Given the description of an element on the screen output the (x, y) to click on. 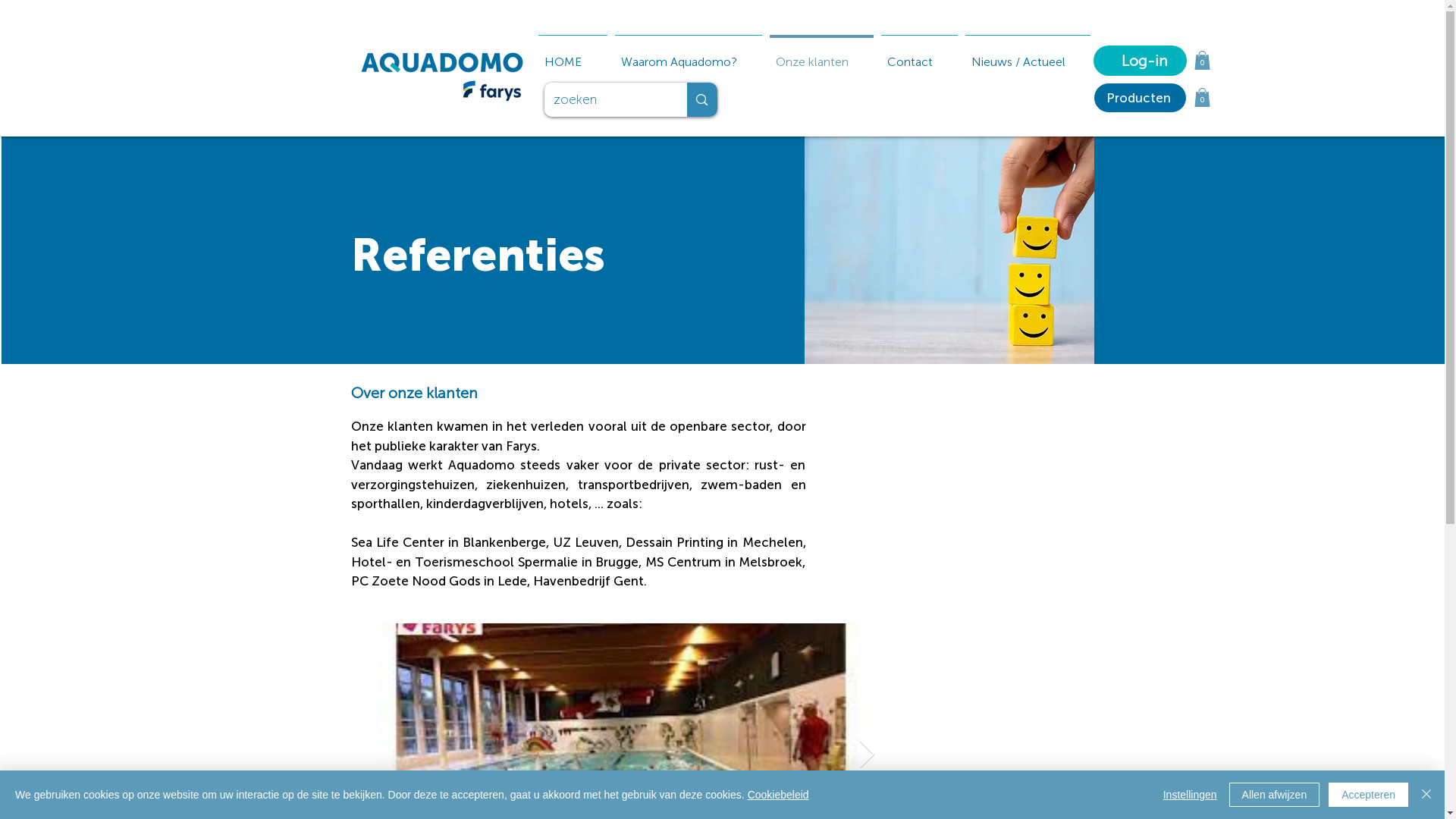
Accepteren Element type: text (1368, 794)
0 Element type: text (1201, 96)
Cookiebeleid Element type: text (778, 794)
Nieuws / Actueel Element type: text (1027, 54)
Onze klanten Element type: text (821, 54)
0 Element type: text (1201, 59)
Contact Element type: text (918, 54)
Producten Element type: text (1139, 97)
Log-in Element type: text (1139, 60)
HOME Element type: text (571, 54)
Allen afwijzen Element type: text (1274, 794)
Waarom Aquadomo? Element type: text (688, 54)
